Given the description of an element on the screen output the (x, y) to click on. 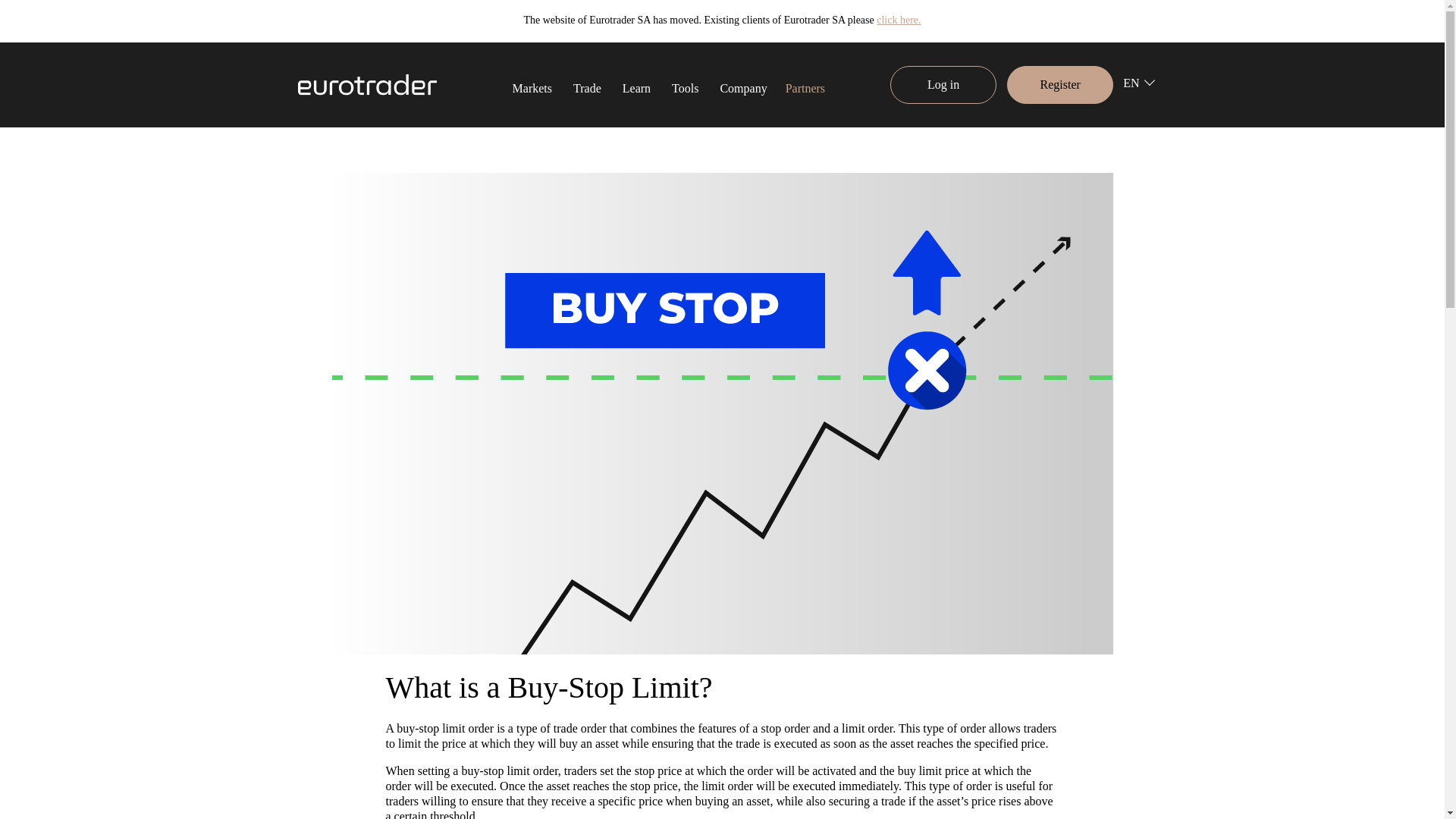
Learn (636, 86)
Learn (636, 86)
Partners (805, 88)
Markets (532, 86)
Markets (532, 86)
click here. (898, 19)
Tools (685, 86)
Trade (586, 86)
Log in (942, 85)
Company (743, 86)
Trade (586, 86)
